Given the description of an element on the screen output the (x, y) to click on. 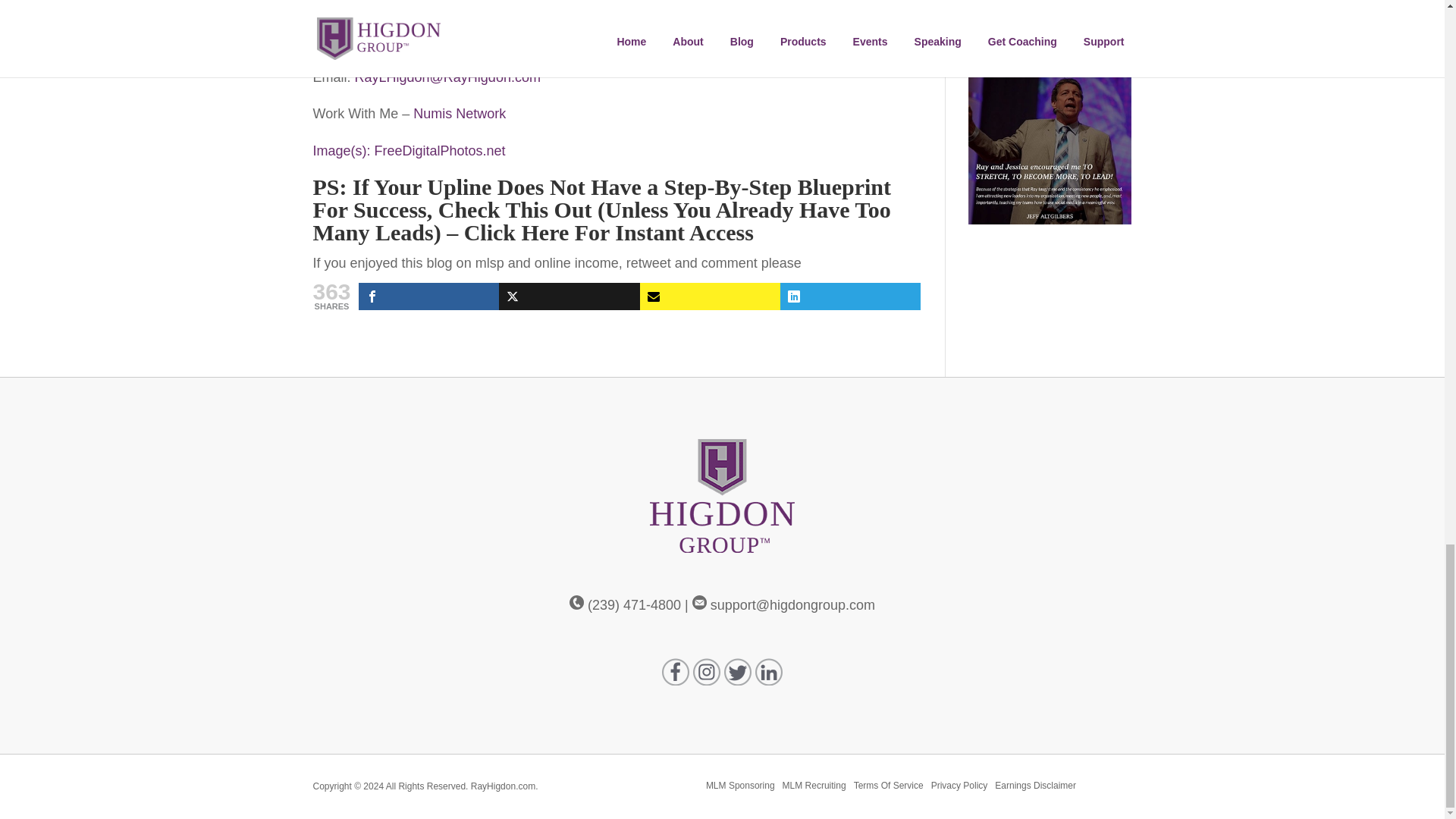
higdon-group-footer-logo (721, 495)
rayface (369, 2)
